Given the description of an element on the screen output the (x, y) to click on. 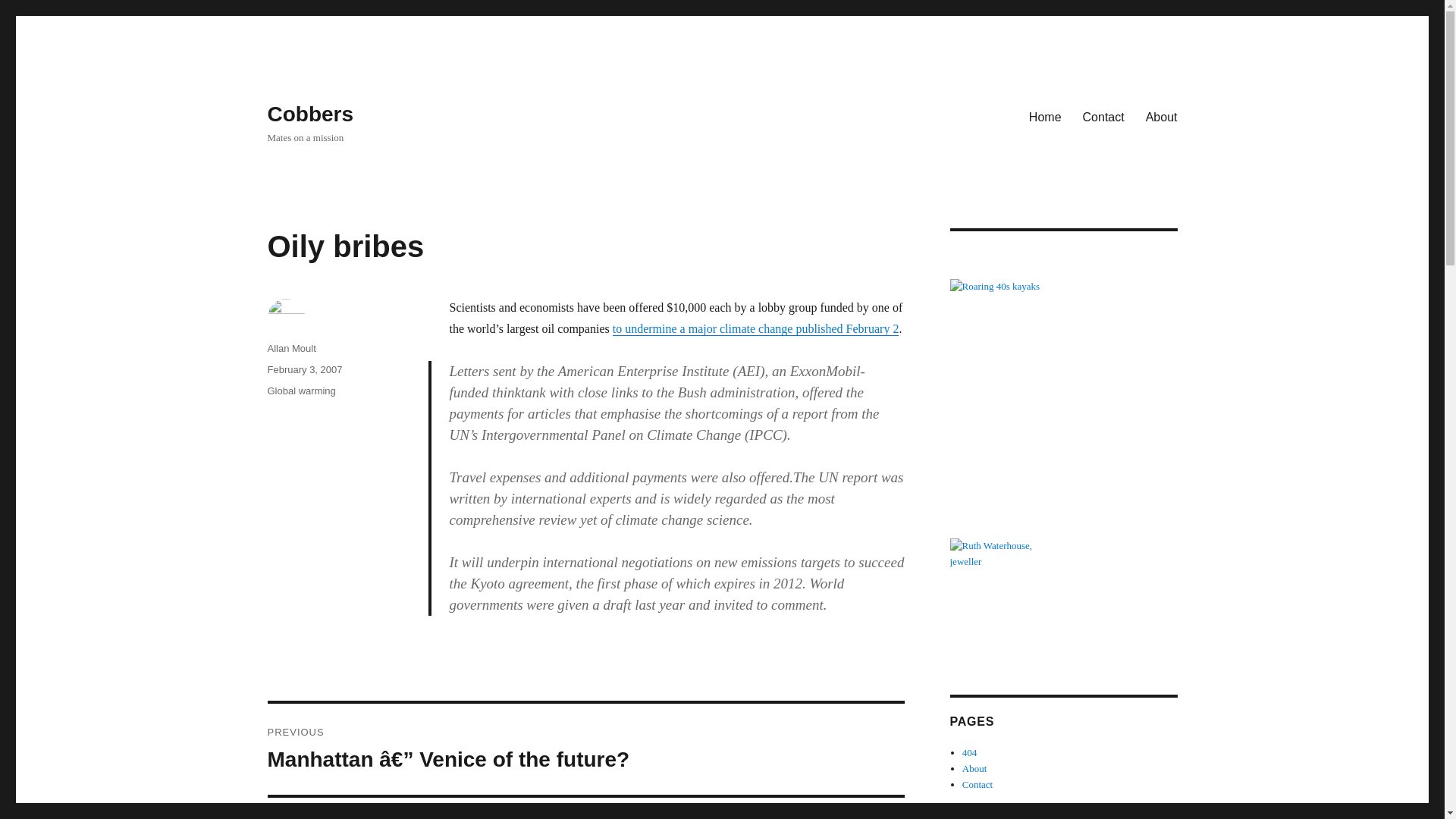
Allan Moult (290, 348)
Global warming (300, 390)
Contact (1103, 116)
Home (1044, 116)
February 3, 2007 (304, 369)
About (974, 767)
About (1161, 116)
404 (969, 752)
Cobbers (309, 114)
Contact (977, 784)
to undermine a major climate change published February 2 (755, 328)
